Given the description of an element on the screen output the (x, y) to click on. 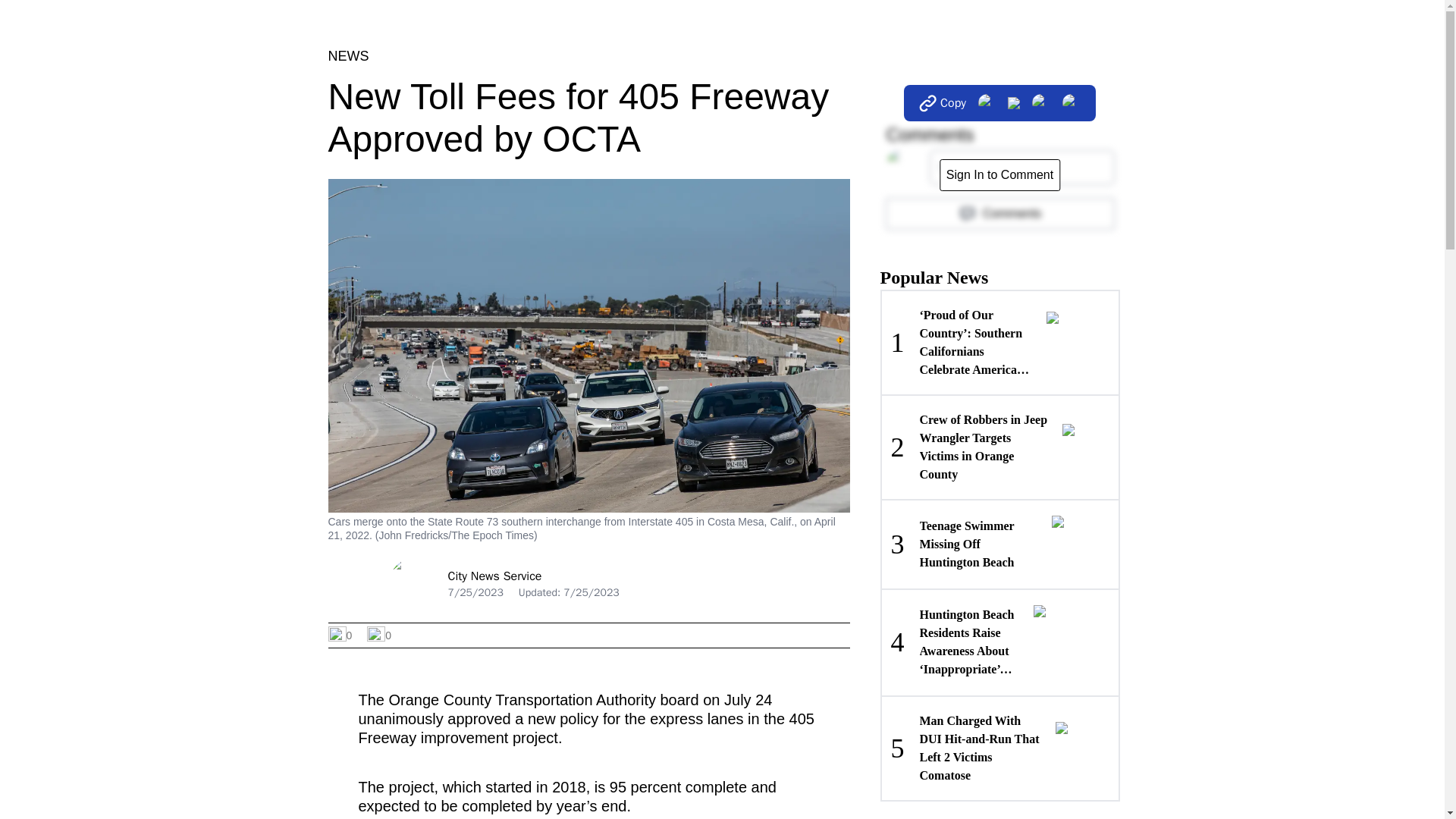
0 (999, 543)
City News Service (379, 635)
Sign In to Comment (493, 576)
Comments (999, 174)
